Given the description of an element on the screen output the (x, y) to click on. 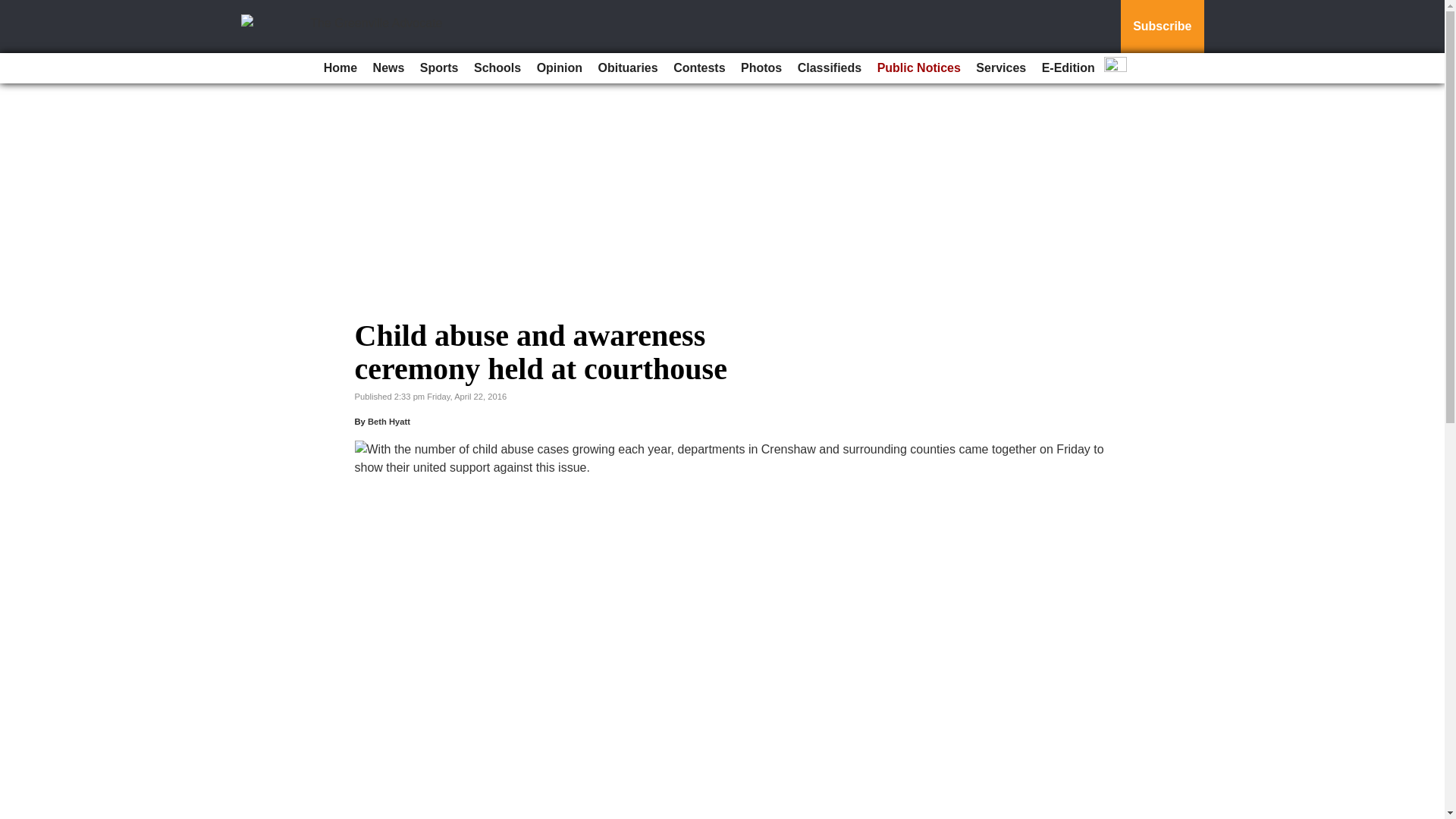
Services (1000, 68)
Contests (698, 68)
Opinion (559, 68)
Schools (497, 68)
Sports (438, 68)
Public Notices (918, 68)
Obituaries (627, 68)
Home (339, 68)
E-Edition (1067, 68)
News (388, 68)
